Given the description of an element on the screen output the (x, y) to click on. 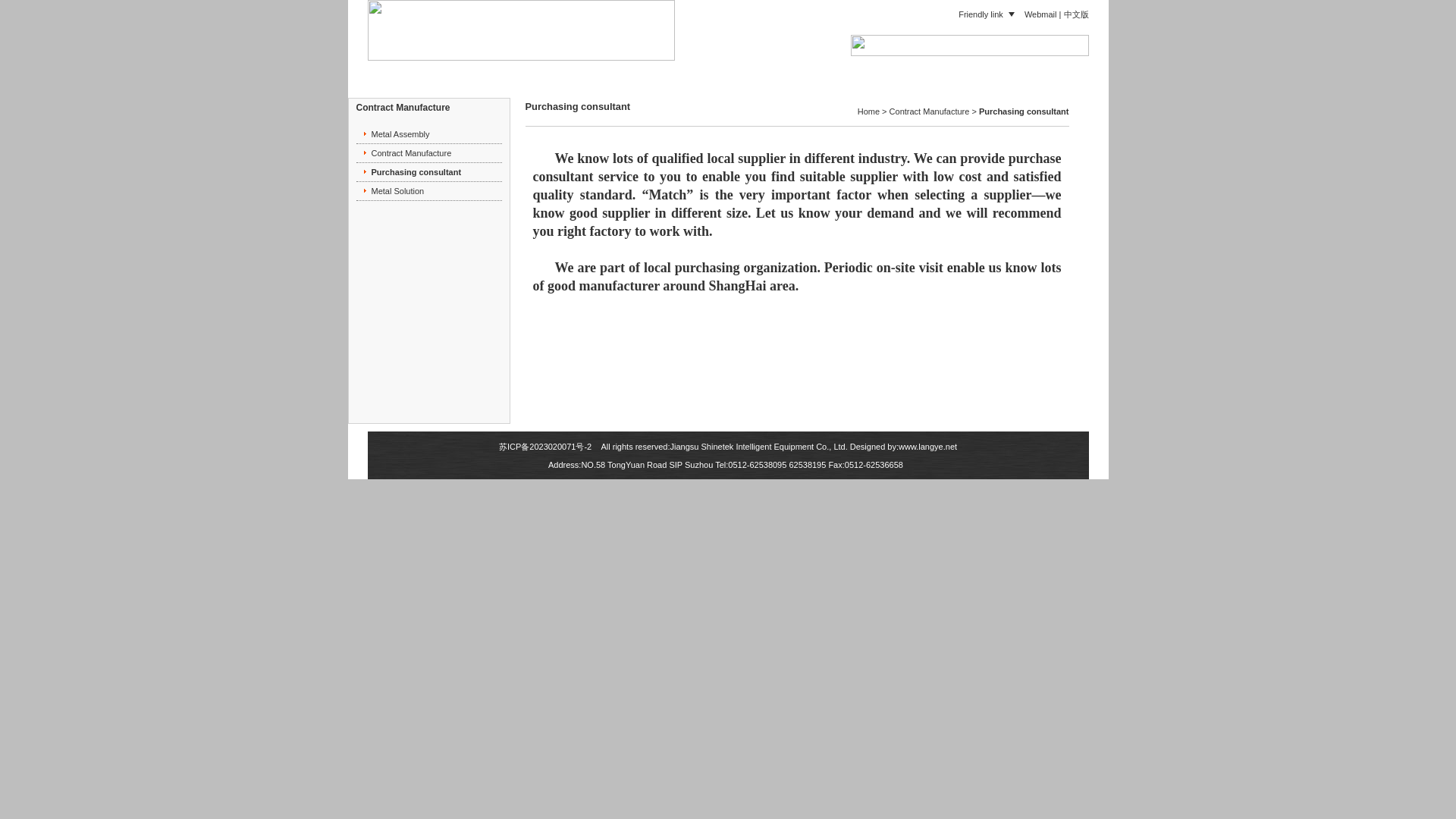
Contact us (1009, 69)
Capabilities (771, 69)
Home (510, 69)
Product list (676, 69)
Contract Manufacture (411, 153)
Home (868, 111)
Webmail (1041, 13)
About us (587, 69)
Metal Assembly (400, 133)
Purchasing consultant (416, 171)
